Given the description of an element on the screen output the (x, y) to click on. 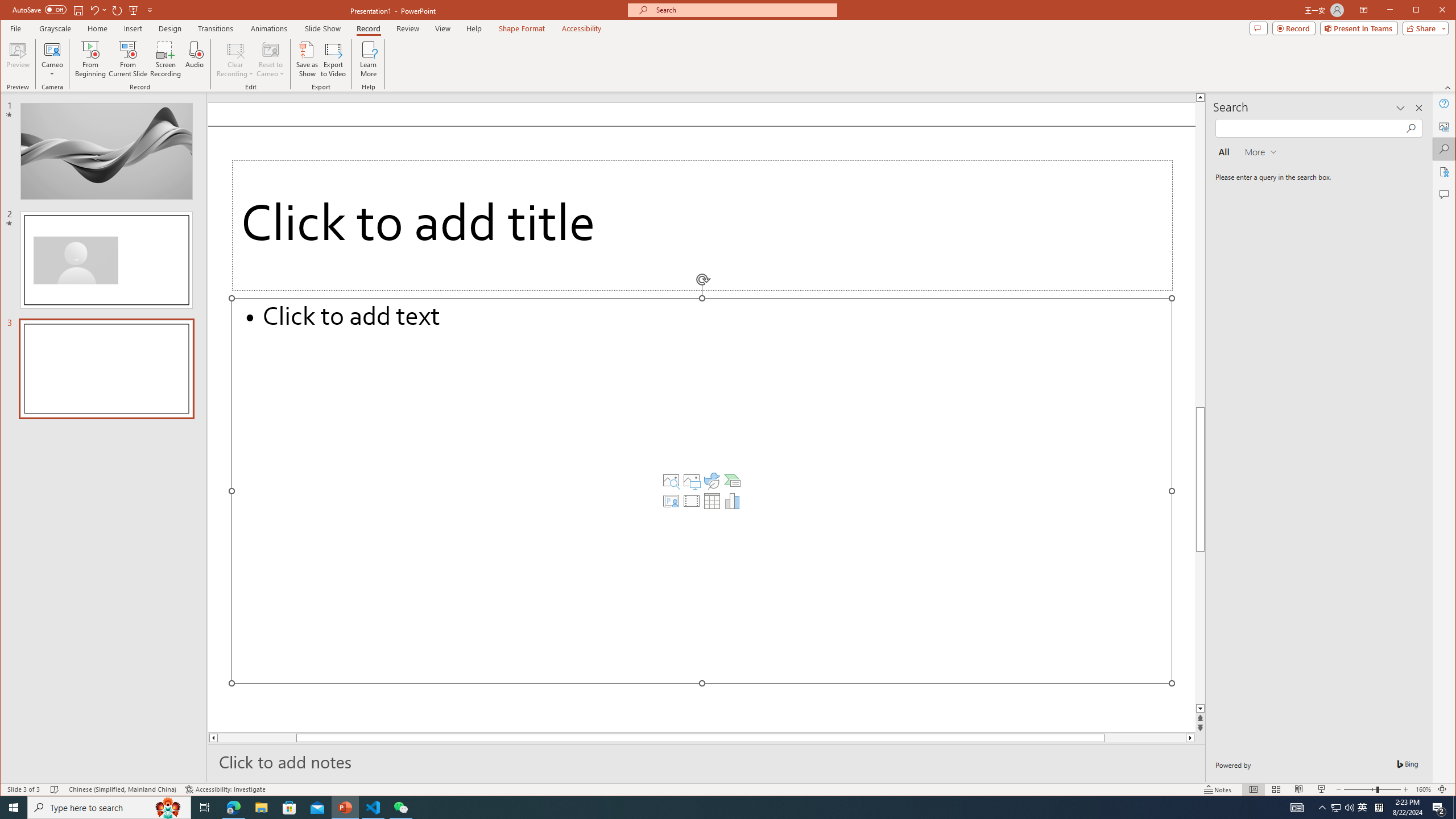
Microsoft Edge - 1 running window (233, 807)
